Given the description of an element on the screen output the (x, y) to click on. 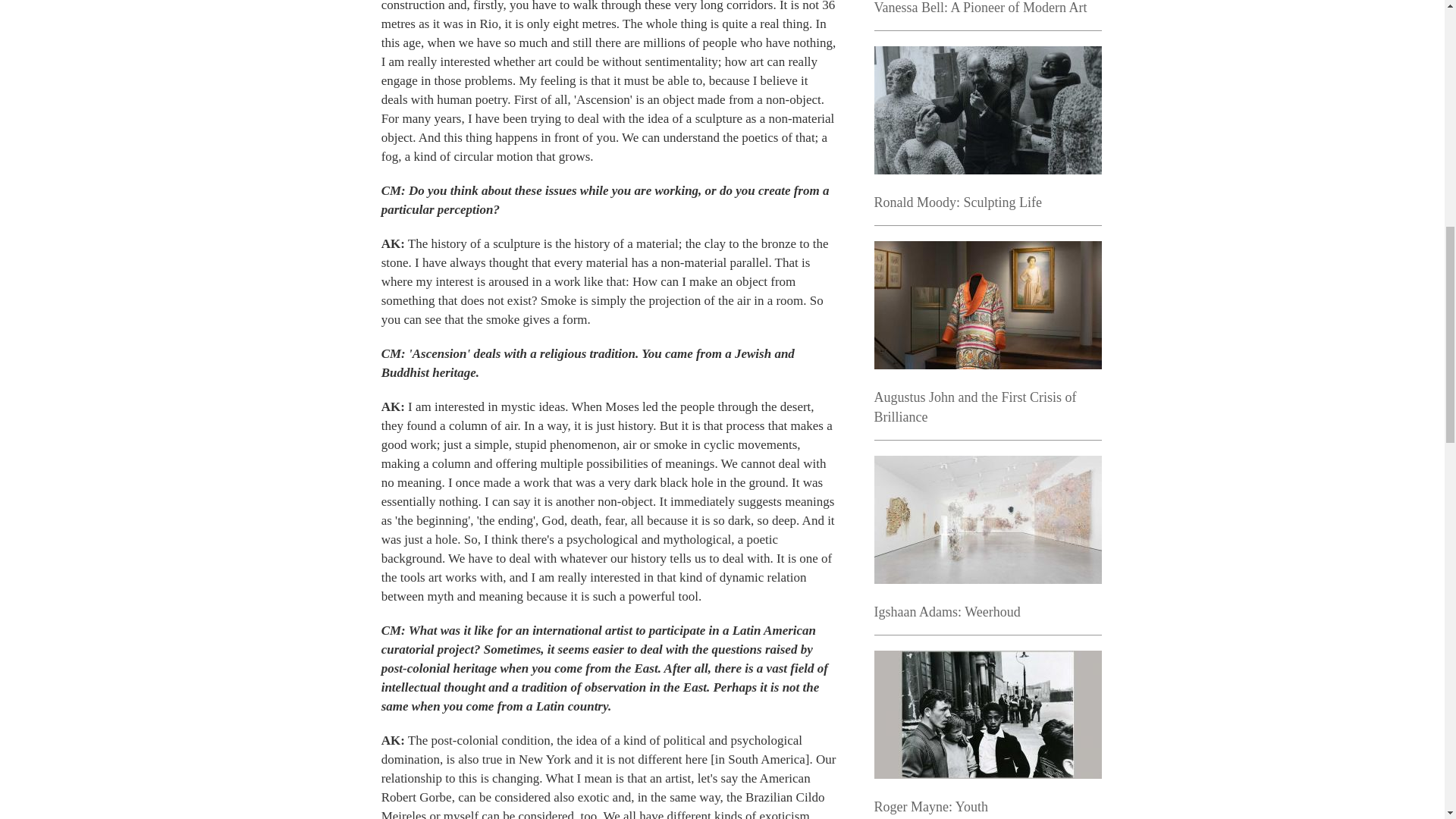
Igshaan Adams: Weerhoud (946, 611)
Ronald Moody: Sculpting Life (957, 201)
Roger Mayne: Youth (930, 806)
Vanessa Bell: A Pioneer of Modern Art (979, 7)
Augustus John and the First Crisis of Brilliance (974, 407)
